Given the description of an element on the screen output the (x, y) to click on. 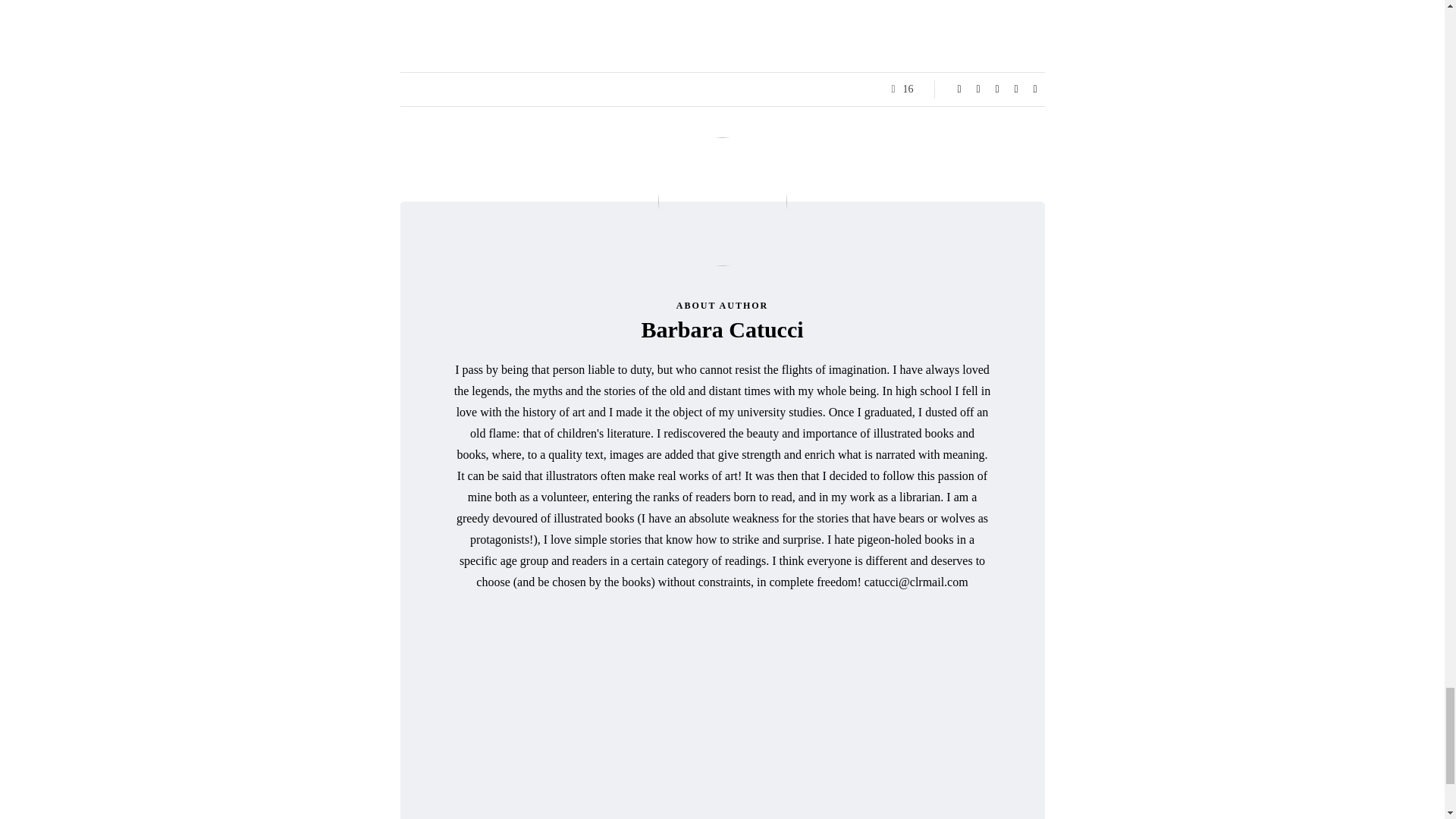
Pin this (1016, 89)
Posts by Barbara Catucci (721, 329)
Share with LinkedIn (996, 89)
Share to WhatsApp (1034, 89)
Barbara Catucci (721, 329)
Tweet this (978, 89)
Share with Facebook (958, 89)
